Given the description of an element on the screen output the (x, y) to click on. 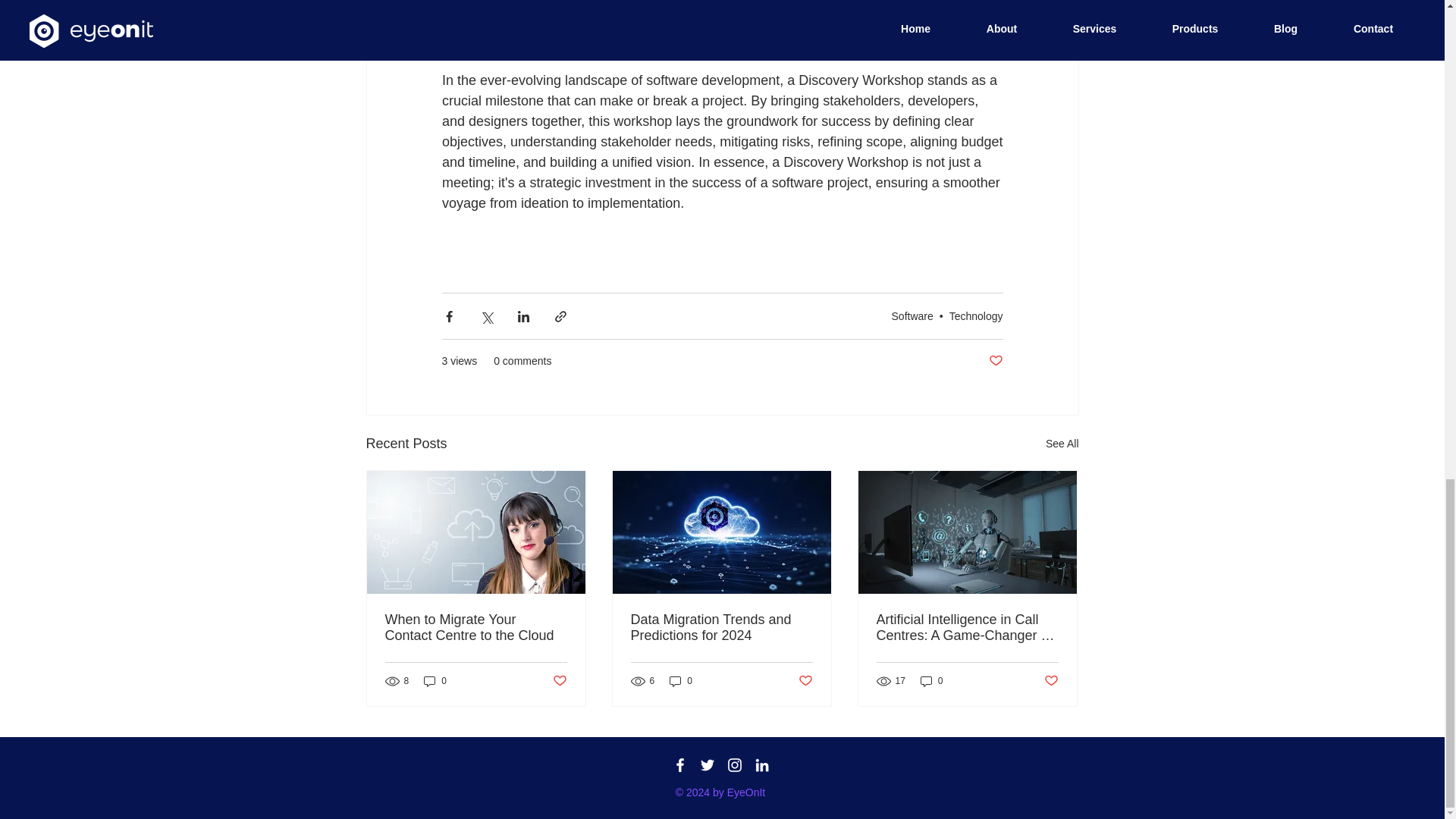
Software (912, 316)
0 (681, 681)
Post not marked as liked (1050, 680)
Post not marked as liked (995, 360)
0 (435, 681)
Post not marked as liked (804, 680)
Data Migration Trends and Predictions for 2024 (721, 627)
See All (1061, 444)
When to Migrate Your Contact Centre to the Cloud (476, 627)
